Given the description of an element on the screen output the (x, y) to click on. 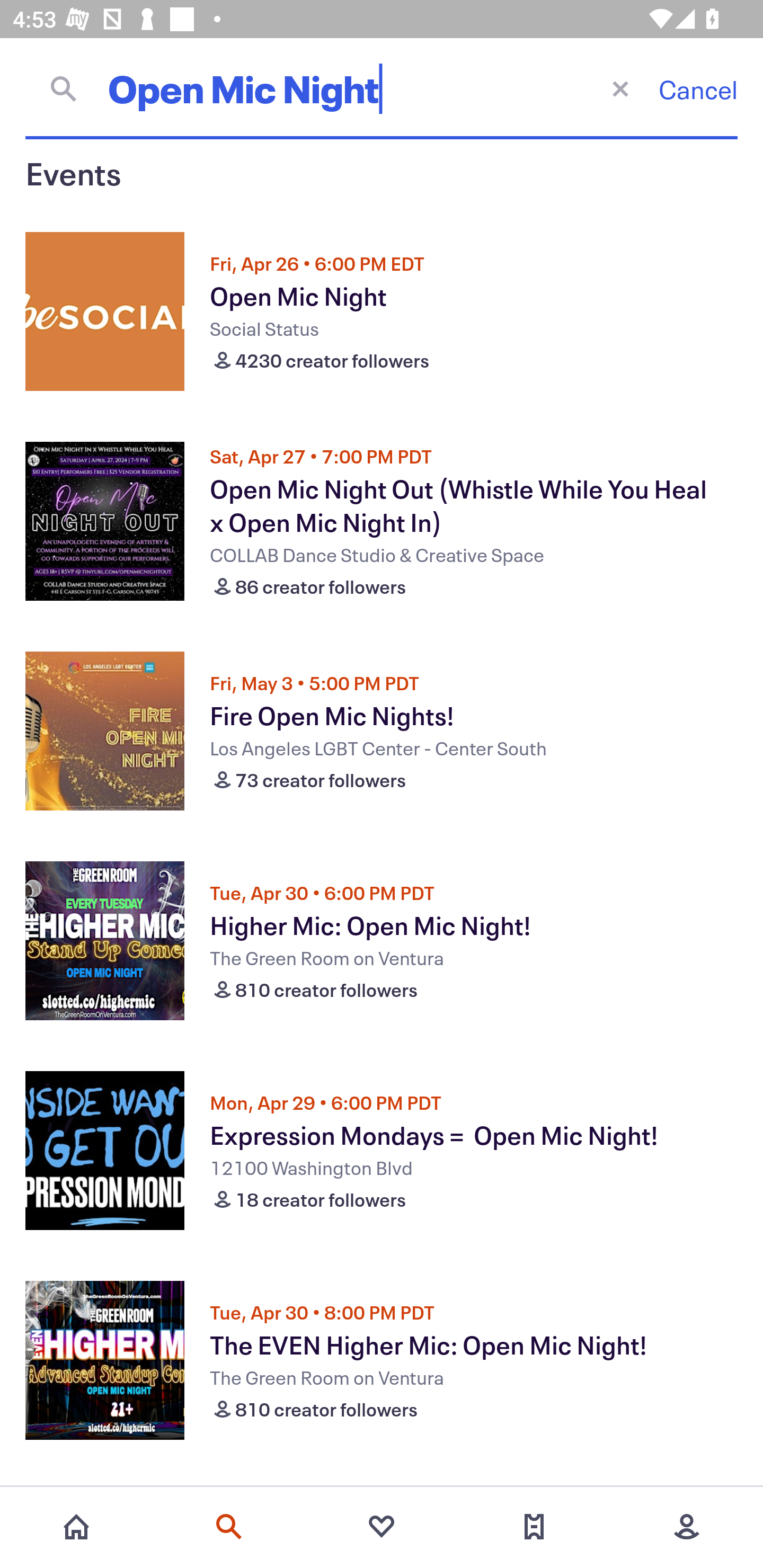
Open Mic Night Close current screen Cancel (381, 88)
Close current screen (620, 88)
Cancel (697, 89)
Home (76, 1526)
Search events (228, 1526)
Favorites (381, 1526)
Tickets (533, 1526)
More (686, 1526)
